Given the description of an element on the screen output the (x, y) to click on. 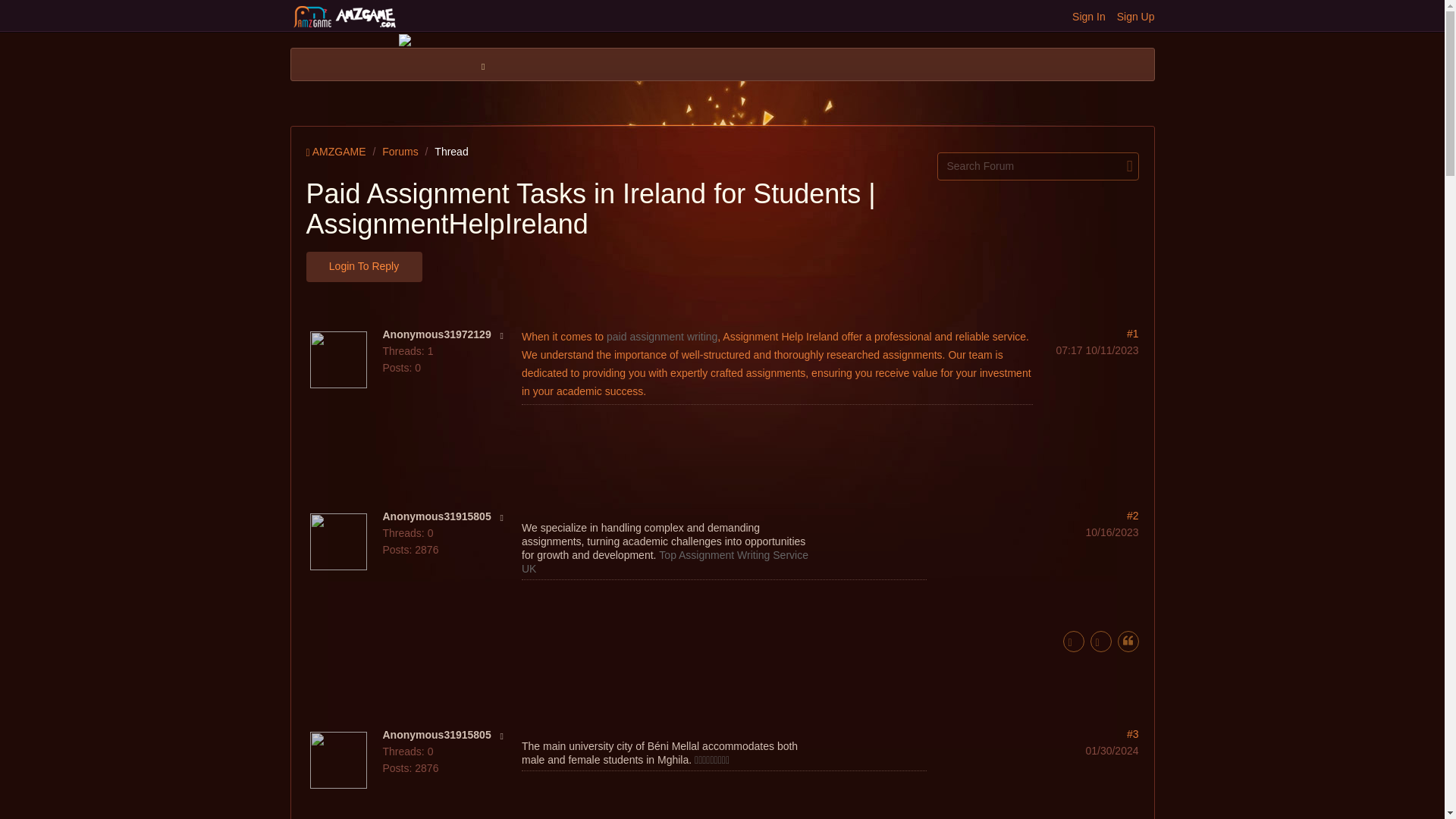
AMZGAME (335, 151)
Sign Up (1135, 16)
Top Assignment Writing Service UK (664, 561)
Sign In (1088, 16)
Login To Reply (721, 260)
paid assignment writing (662, 336)
Forums (399, 151)
Login To Reply (363, 266)
